Given the description of an element on the screen output the (x, y) to click on. 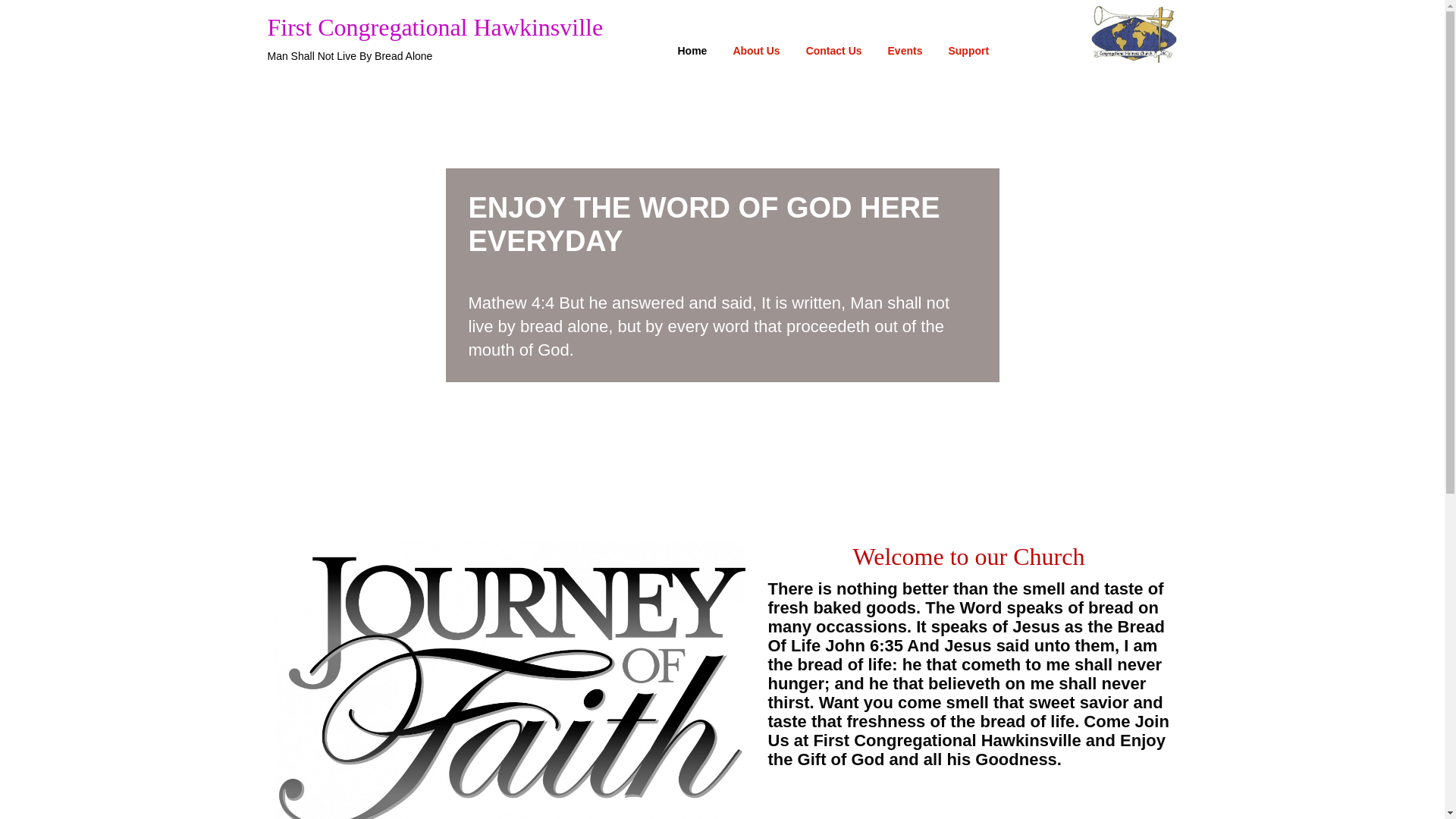
Events Element type: text (905, 50)
Home Element type: text (692, 50)
Contact Us Element type: text (833, 50)
Support Element type: text (968, 50)
About Us Element type: text (756, 50)
